Given the description of an element on the screen output the (x, y) to click on. 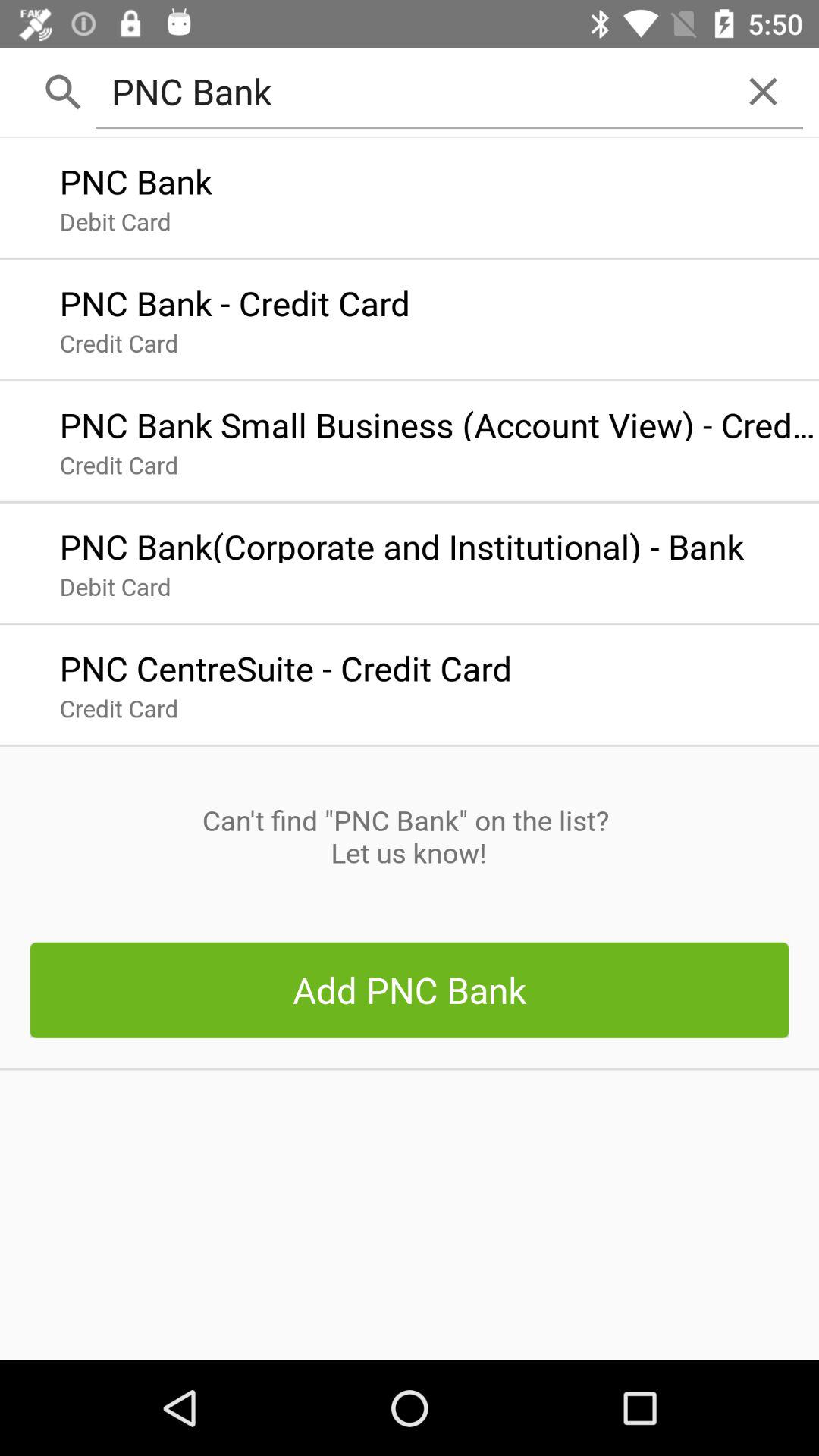
flip to pnc centresuite credit item (285, 664)
